Given the description of an element on the screen output the (x, y) to click on. 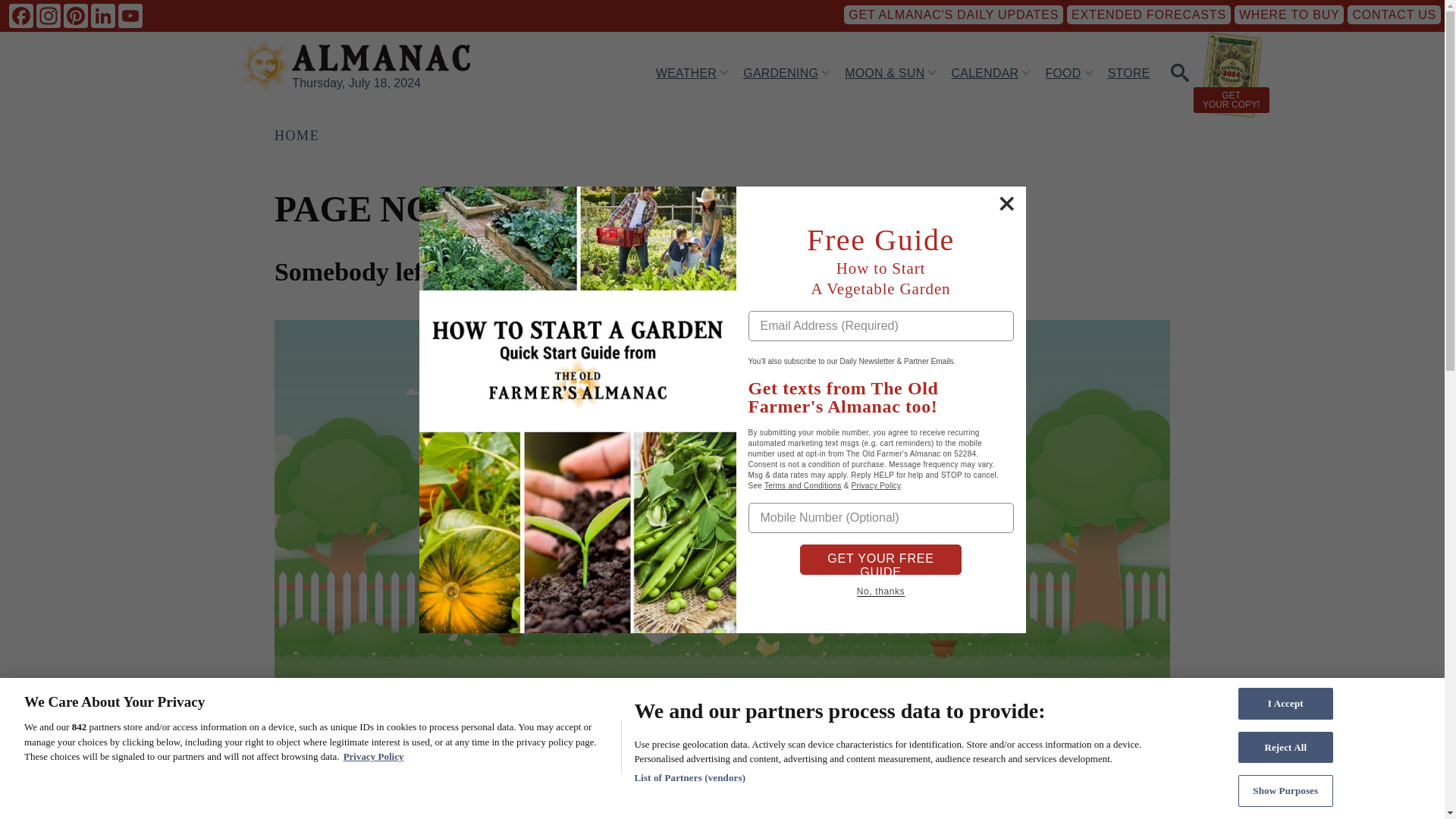
Facebook (20, 15)
Skip to main content (595, 6)
YouTube (130, 15)
LinkedIn (102, 15)
Pinterest (75, 15)
EXTENDED FORECASTS (1148, 14)
GARDENING (780, 72)
Close Closes Web Dialog (1005, 203)
CONTACT US (1394, 14)
Instagram (48, 15)
WHERE TO BUY (1288, 14)
GET ALMANAC'S DAILY UPDATES (953, 14)
Thursday, July 18, 2024 (356, 82)
